Given the description of an element on the screen output the (x, y) to click on. 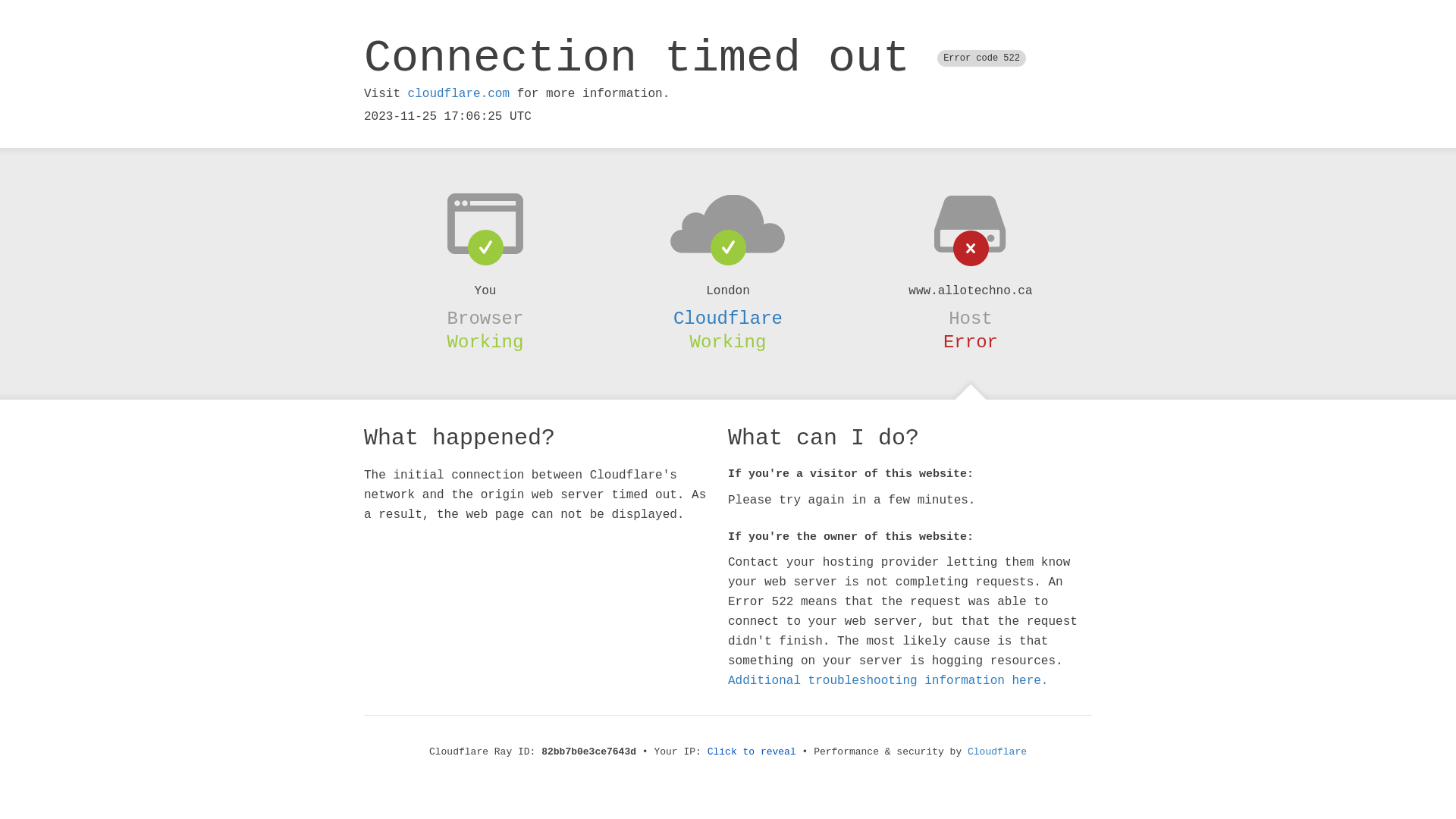
Cloudflare Element type: text (996, 751)
cloudflare.com Element type: text (458, 93)
Click to reveal Element type: text (751, 751)
Cloudflare Element type: text (727, 318)
Additional troubleshooting information here. Element type: text (888, 680)
